Given the description of an element on the screen output the (x, y) to click on. 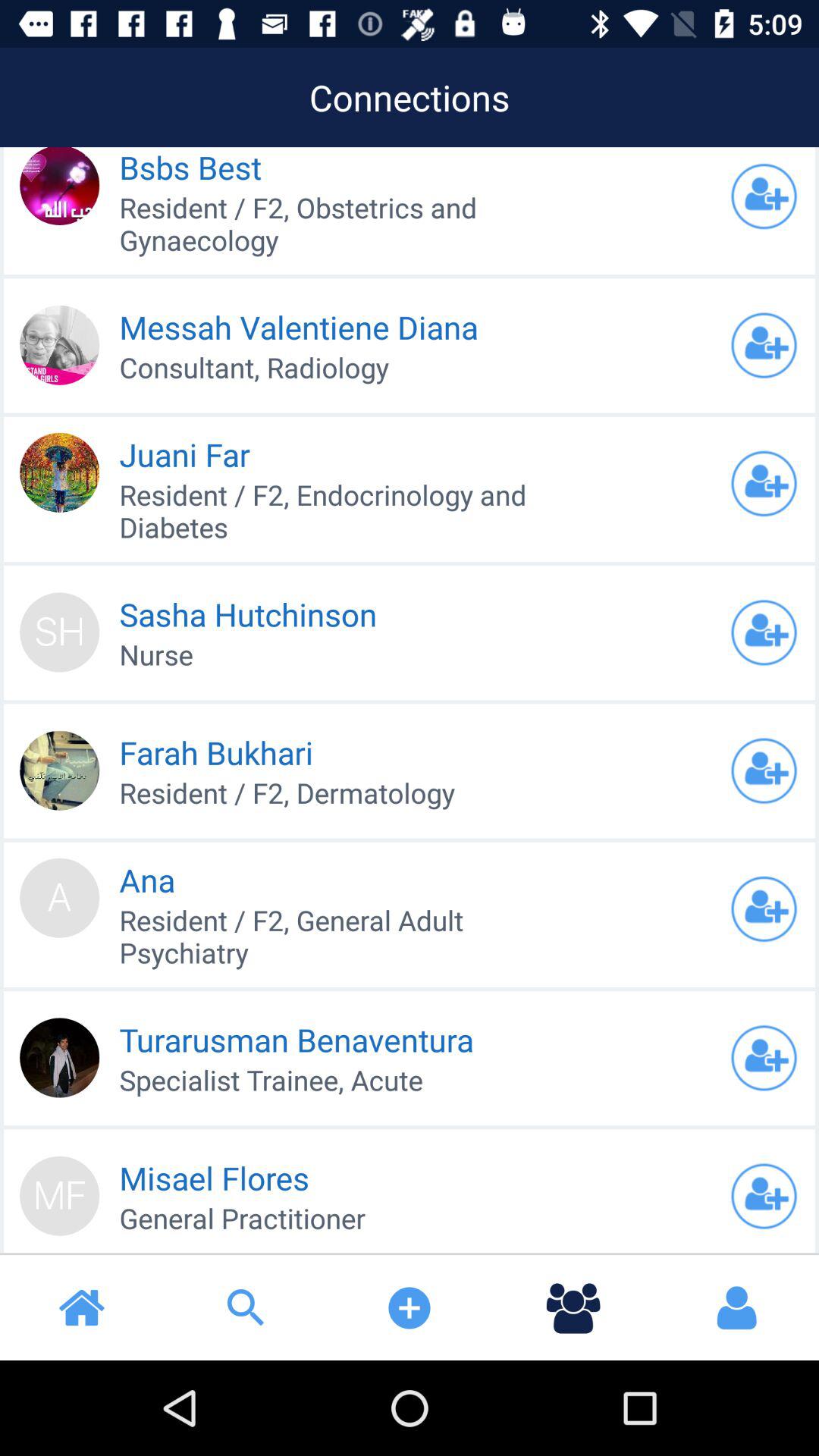
add to your list (764, 632)
